Given the description of an element on the screen output the (x, y) to click on. 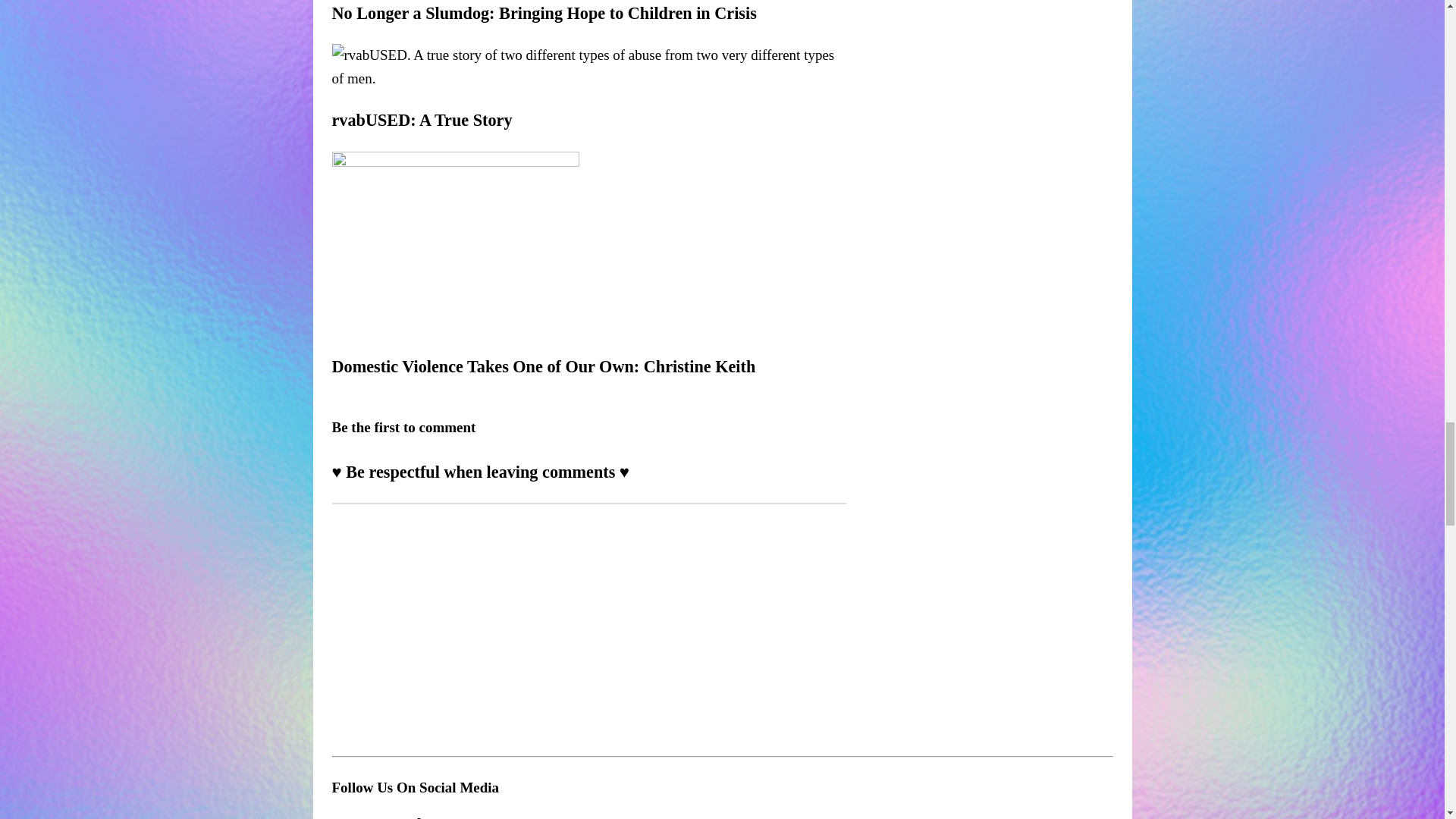
rvabUSED: A True Story (588, 78)
Domestic Violence Takes One of Our Own: Christine Keith (455, 324)
Domestic Violence Takes One of Our Own: Christine Keith (543, 366)
No Longer a Slumdog: Bringing Hope to Children in Crisis (544, 13)
rvabUSED: A True Story (421, 119)
Comment Form (588, 622)
No Longer a Slumdog: Bringing Hope to Children in Crisis (544, 13)
